Given the description of an element on the screen output the (x, y) to click on. 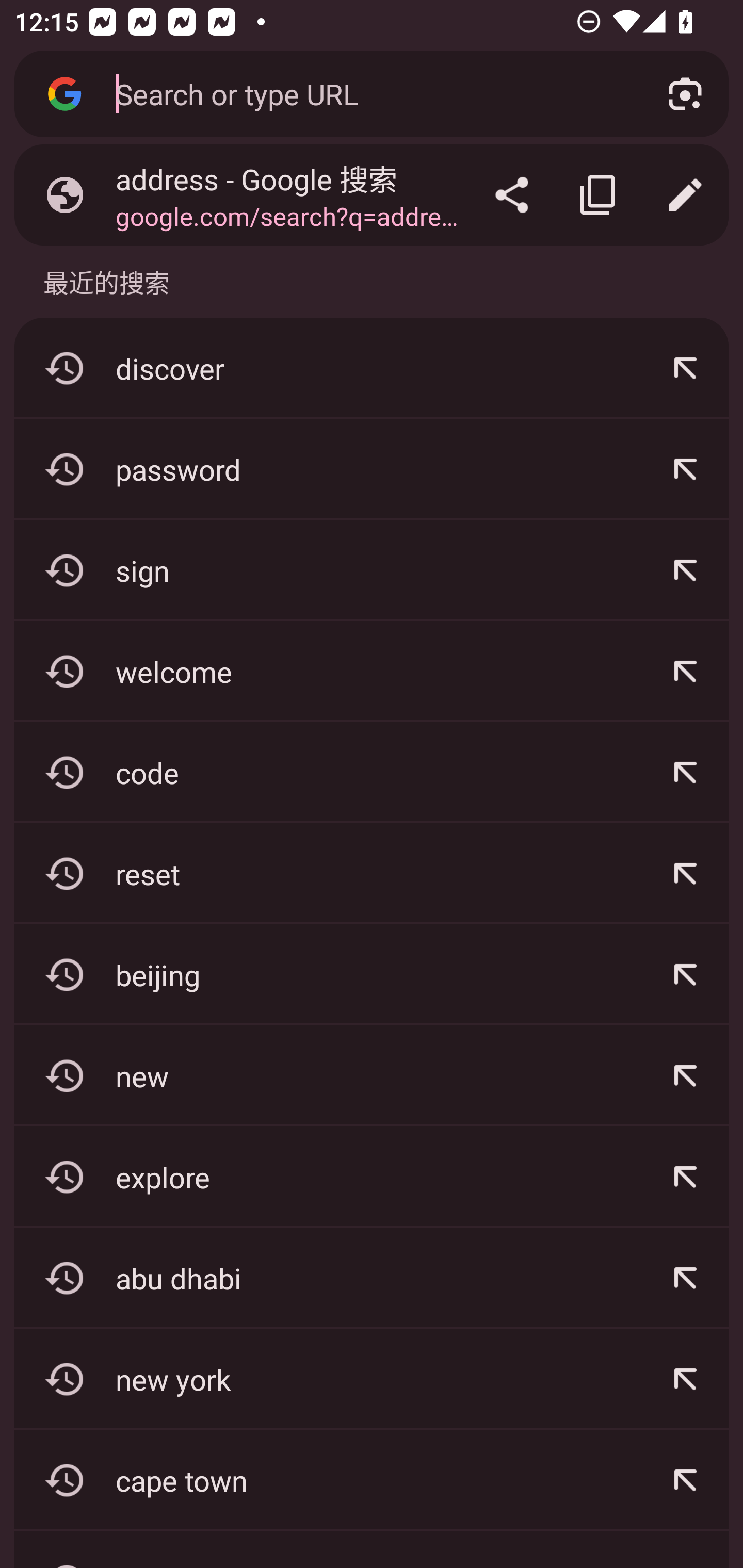
Search with your camera using Google Lens (684, 93)
Search or type URL (367, 92)
Share… (511, 195)
Copy link (598, 195)
Edit (684, 195)
discover Refine: discover (371, 368)
Refine: discover (684, 368)
password Refine: password (371, 469)
Refine: password (684, 469)
sign Refine: sign (371, 570)
Refine: sign (684, 570)
welcome Refine: welcome (371, 671)
Refine: welcome (684, 671)
code Refine: code (371, 772)
Refine: code (684, 772)
reset Refine: reset (371, 873)
Refine: reset (684, 873)
beijing Refine: beijing (371, 974)
Refine: beijing (684, 974)
new Refine: new (371, 1075)
Refine: new (684, 1075)
explore Refine: explore (371, 1176)
Refine: explore (684, 1176)
abu dhabi Refine: abu dhabi (371, 1277)
Refine: abu dhabi (684, 1277)
new york Refine: new york (371, 1379)
Refine: new york (684, 1379)
cape town Refine: cape town (371, 1480)
Refine: cape town (684, 1480)
